Given the description of an element on the screen output the (x, y) to click on. 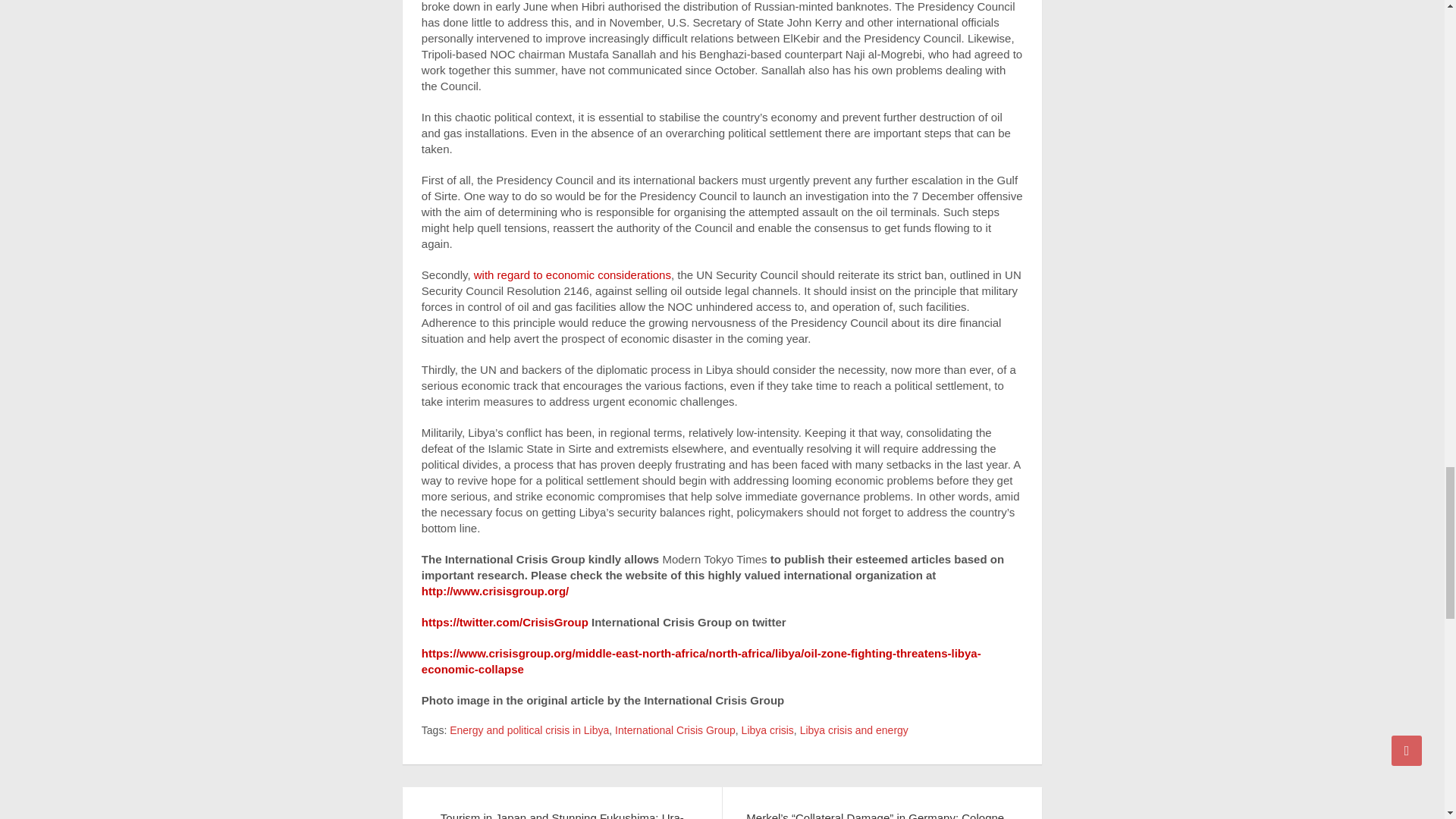
with regard to economic considerations (572, 274)
International Crisis Group (674, 730)
Libya crisis and energy (853, 730)
Libya crisis (767, 730)
Energy and political crisis in Libya (528, 730)
